Given the description of an element on the screen output the (x, y) to click on. 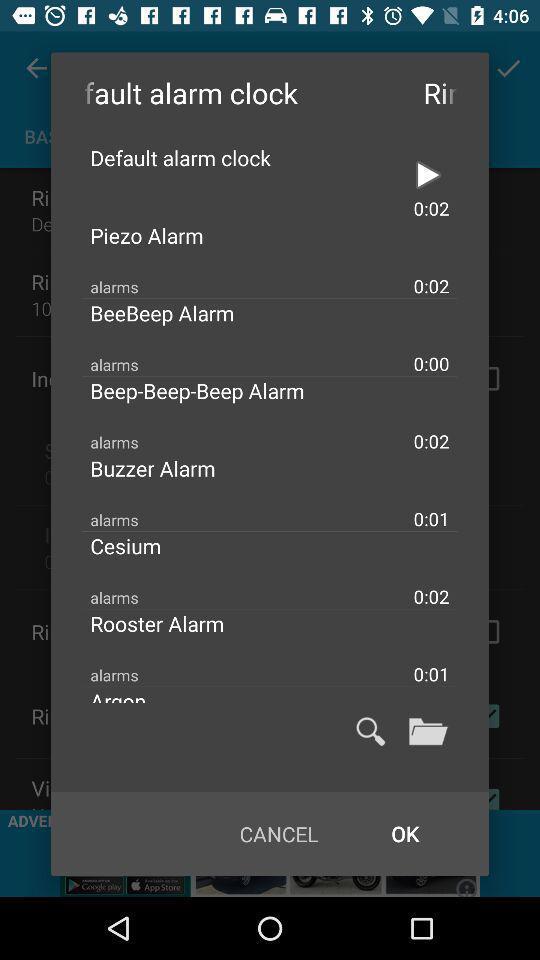
menu (428, 731)
